Given the description of an element on the screen output the (x, y) to click on. 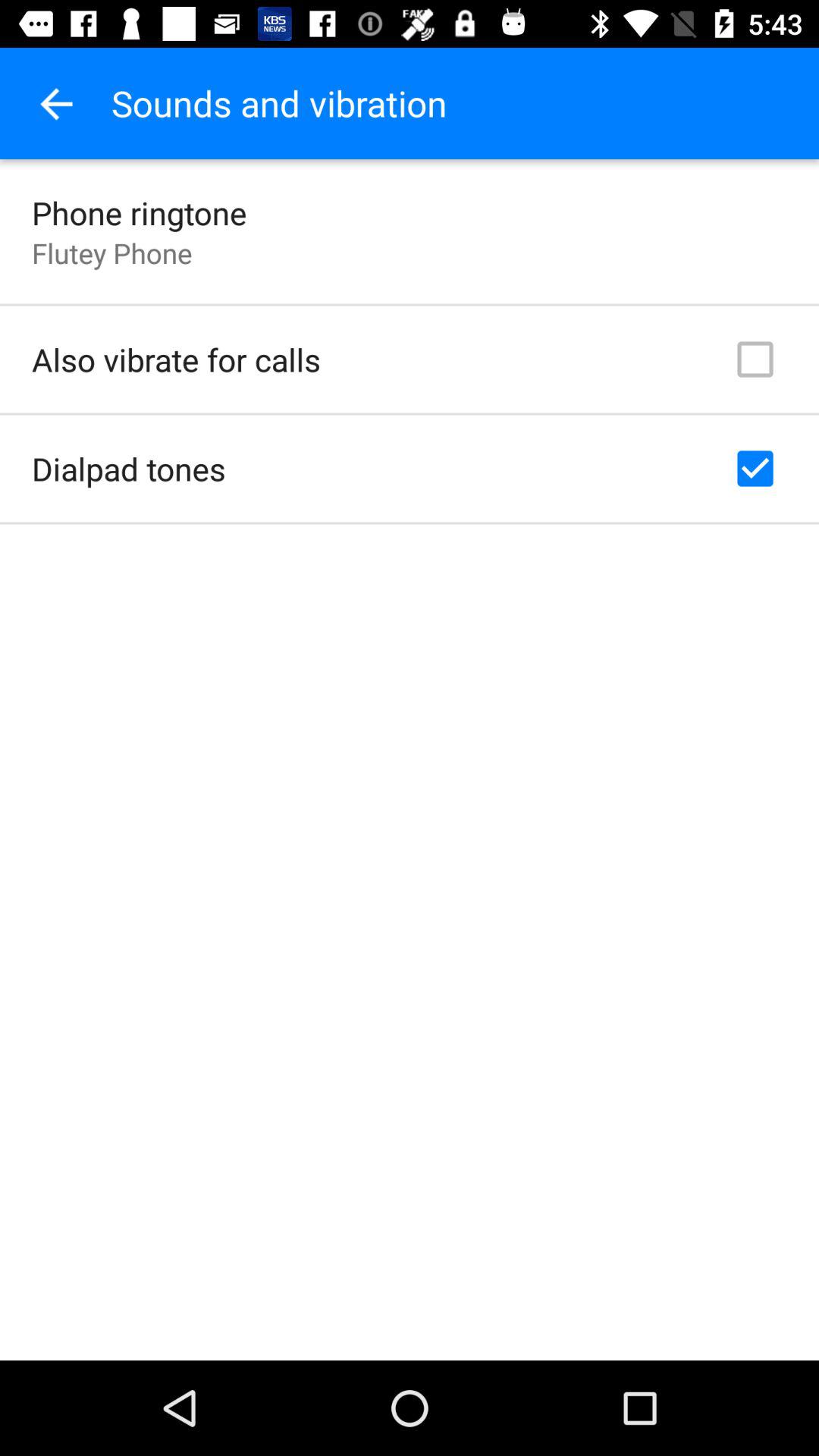
select icon below phone ringtone item (111, 252)
